Given the description of an element on the screen output the (x, y) to click on. 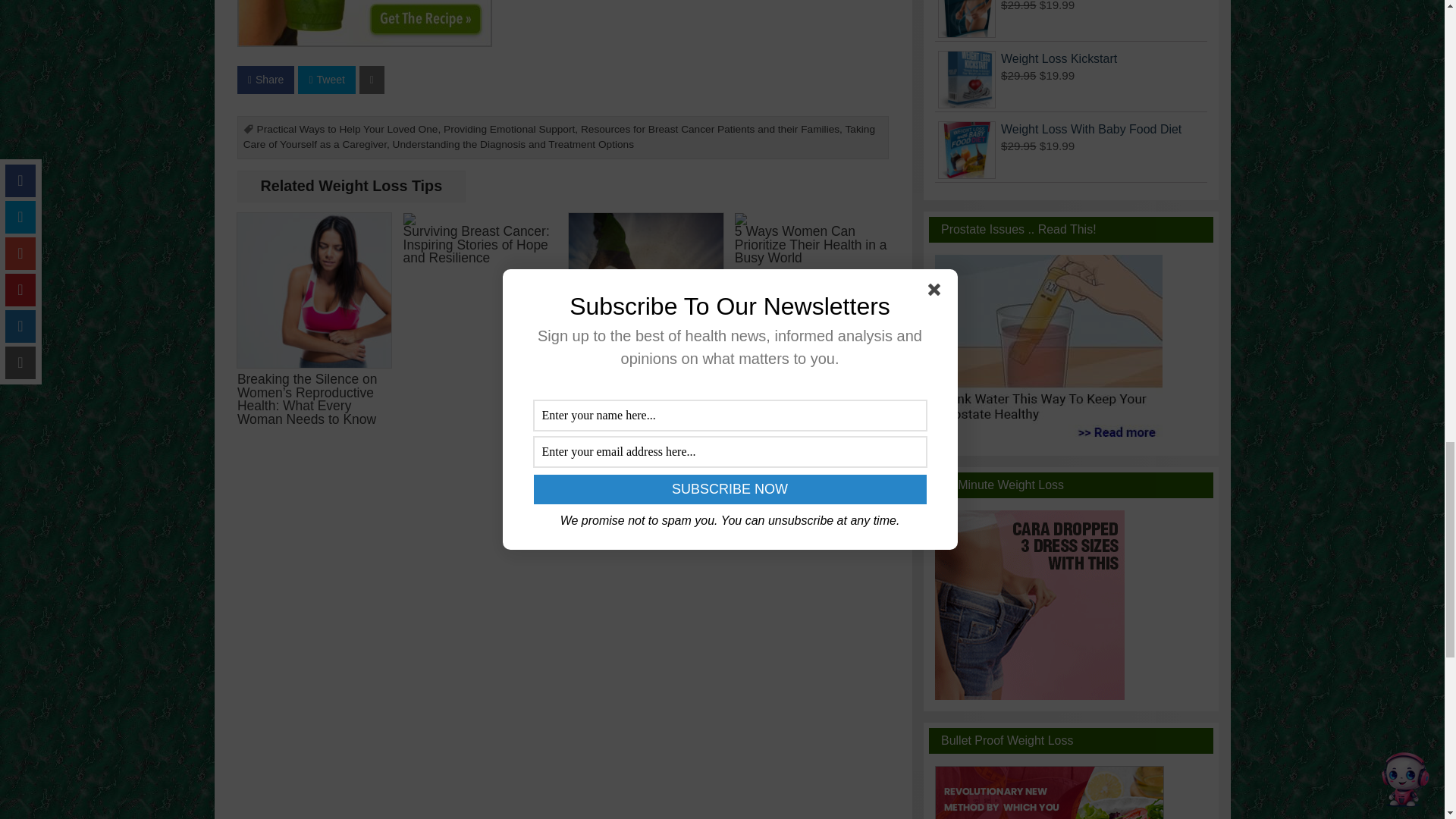
Share On Facebook (265, 80)
21 Day Rapid Weight Loss Program (364, 23)
Tweet on Twitter (326, 80)
